Given the description of an element on the screen output the (x, y) to click on. 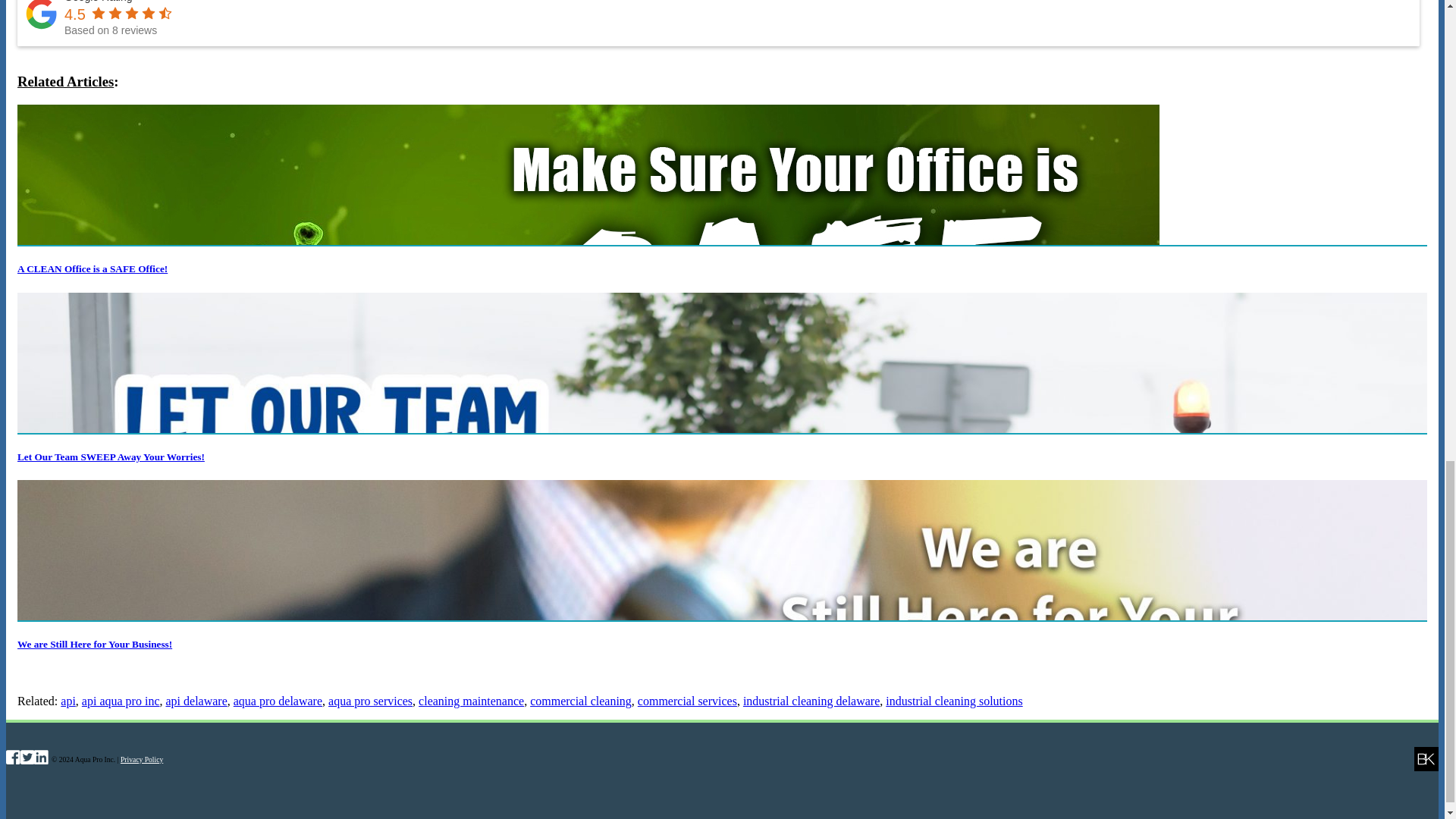
commercial services (686, 700)
Let Our Team SWEEP Away Your Worries! (111, 456)
industrial cleaning solutions (953, 700)
commercial cleaning (580, 700)
industrial cleaning delaware (810, 700)
cleaning maintenance (471, 700)
api aqua pro inc (120, 700)
Privacy Policy (141, 759)
api delaware (196, 700)
aqua pro services (370, 700)
api (68, 700)
We are Still Here for Your Business! (94, 644)
aqua pro delaware (276, 700)
A CLEAN Office is a SAFE Office! (92, 268)
